Given the description of an element on the screen output the (x, y) to click on. 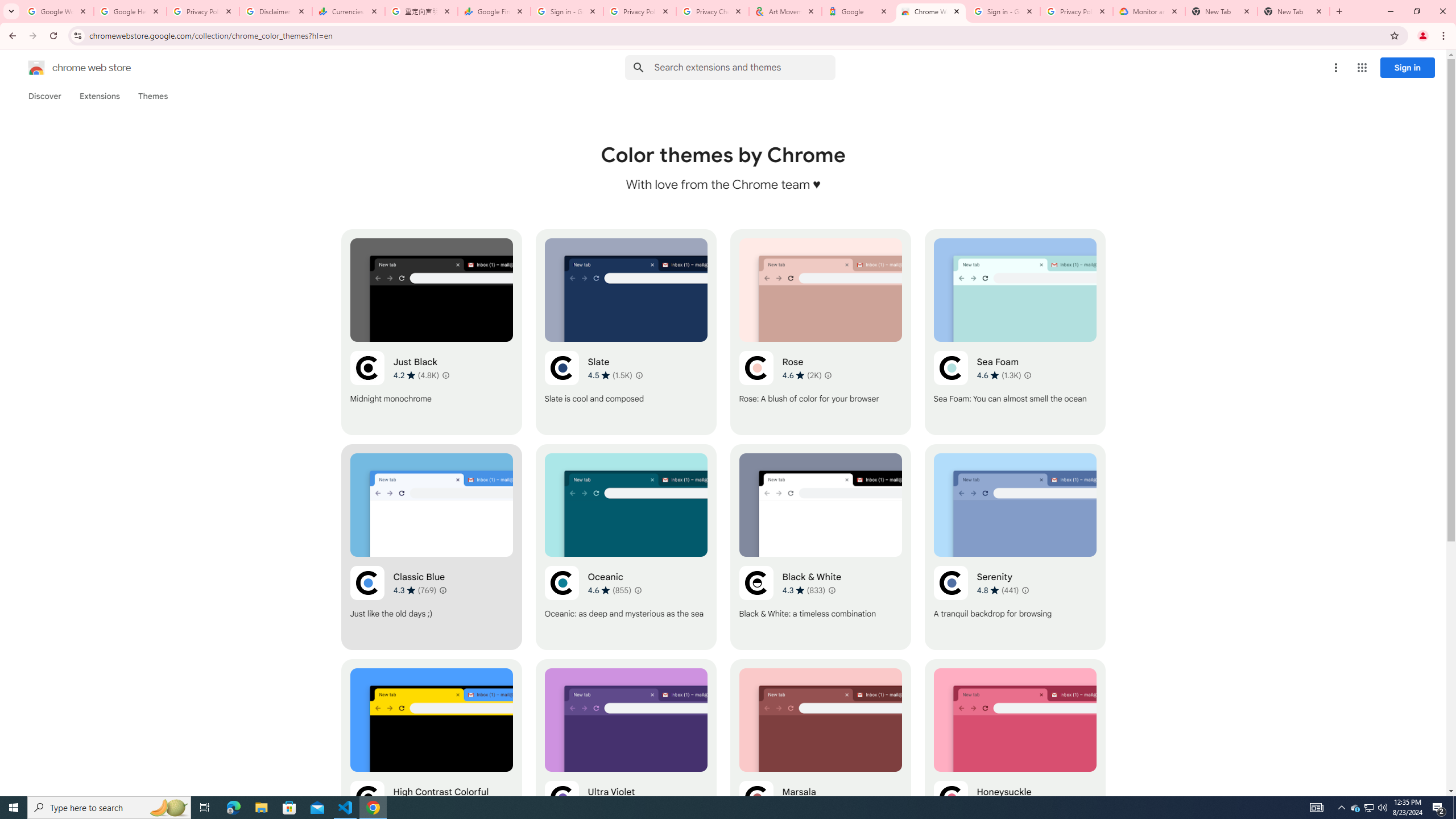
Serenity (1014, 546)
Average rating 4.6 out of 5 stars. 855 ratings. (609, 590)
Chrome Web Store logo chrome web store (67, 67)
Sign in (1407, 67)
Just Black (431, 331)
Sign in - Google Accounts (566, 11)
Black & White (820, 546)
Extensions (99, 95)
New Tab (1293, 11)
Average rating 4.6 out of 5 stars. 1.3K ratings. (999, 375)
Average rating 4.8 out of 5 stars. 441 ratings. (997, 590)
Chrome Web Store - Color themes by Chrome (930, 11)
Classic Blue (431, 546)
